Given the description of an element on the screen output the (x, y) to click on. 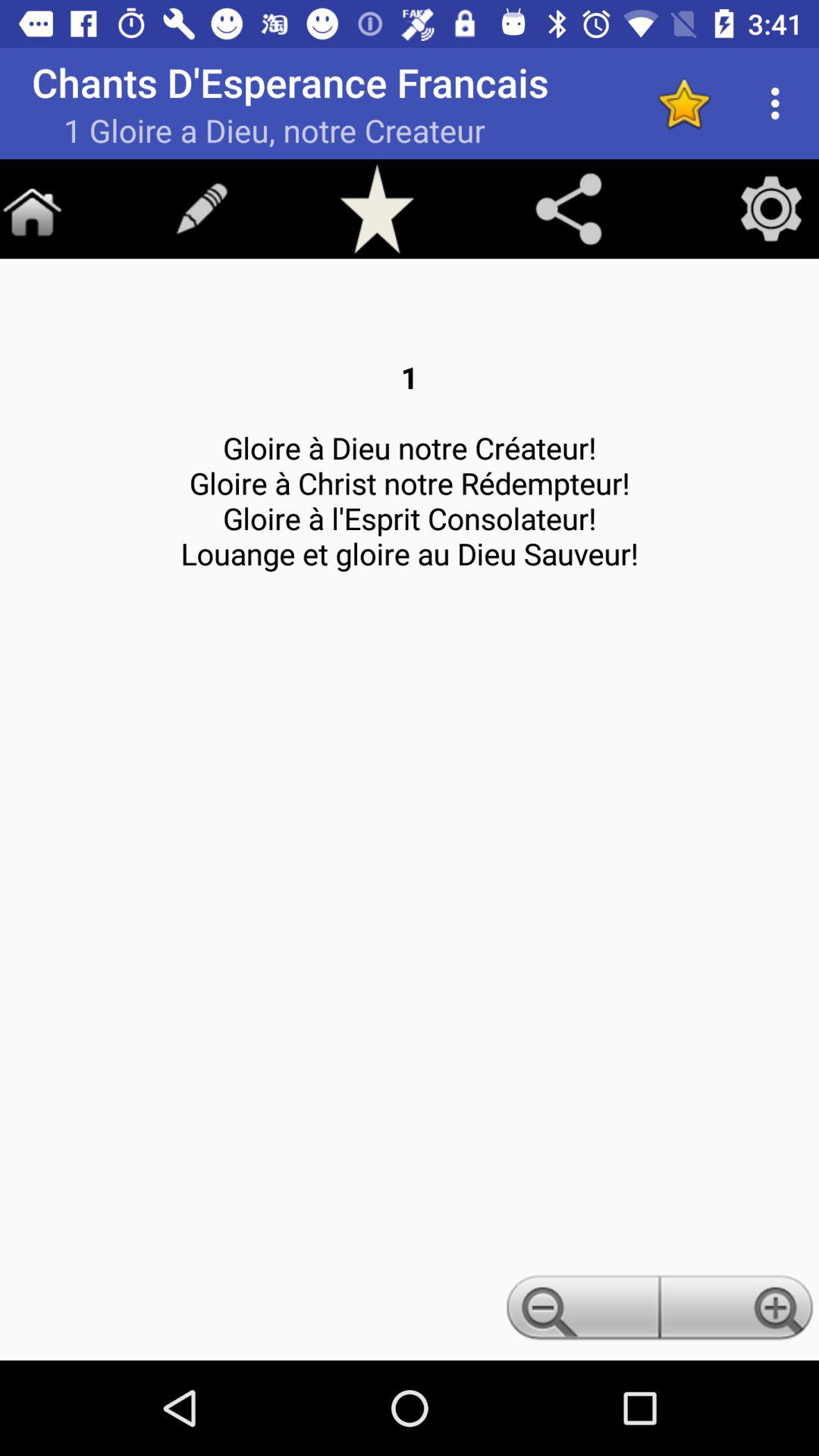
settlings (771, 208)
